Given the description of an element on the screen output the (x, y) to click on. 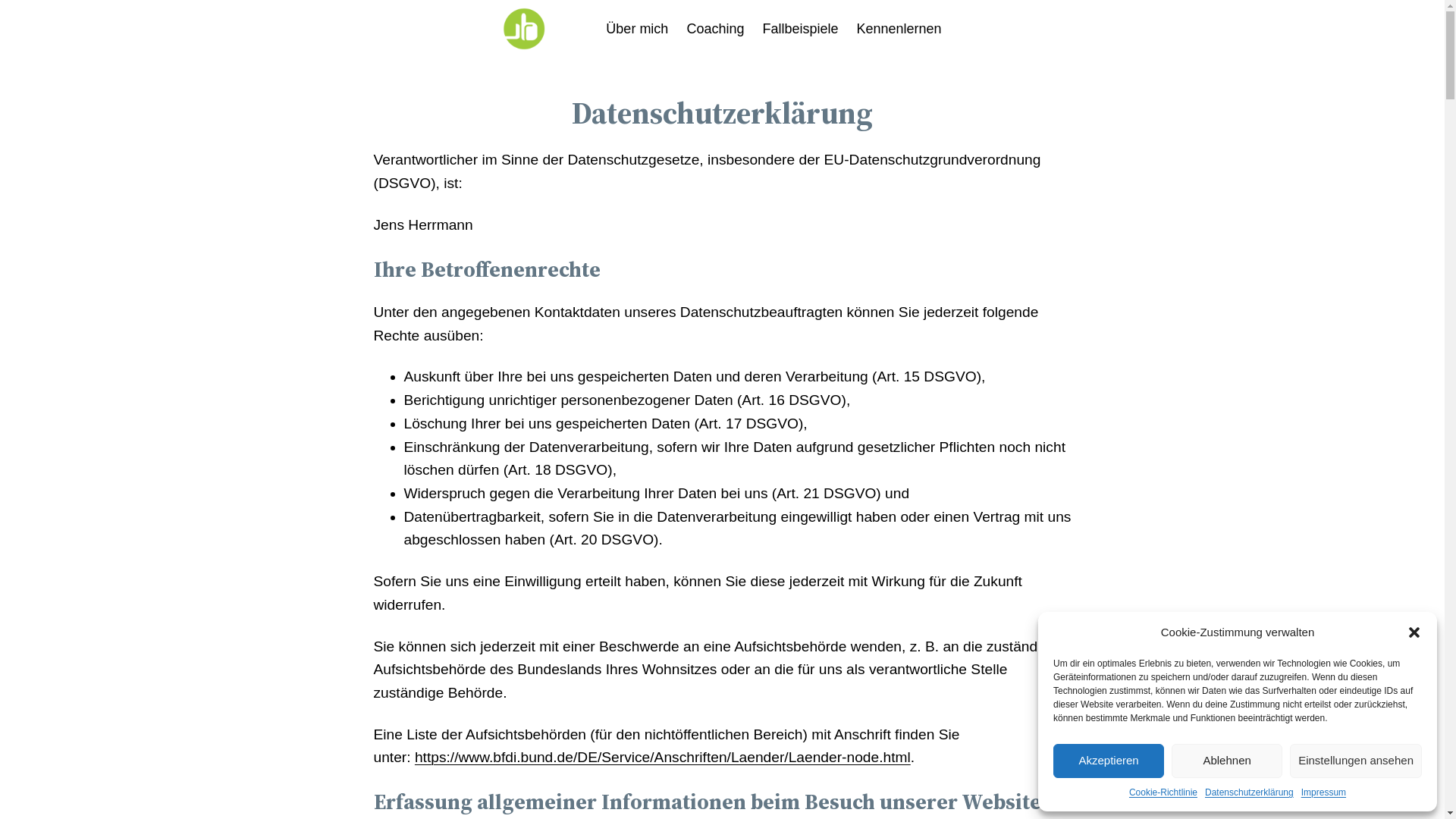
Akzeptieren Element type: text (1108, 760)
Kennenlernen Element type: text (898, 29)
Coaching Element type: text (714, 29)
Impressum Element type: text (1323, 792)
Cookie-Richtlinie Element type: text (1163, 792)
Fallbeispiele Element type: text (799, 29)
Ablehnen Element type: text (1226, 760)
Einstellungen ansehen Element type: text (1355, 760)
